Given the description of an element on the screen output the (x, y) to click on. 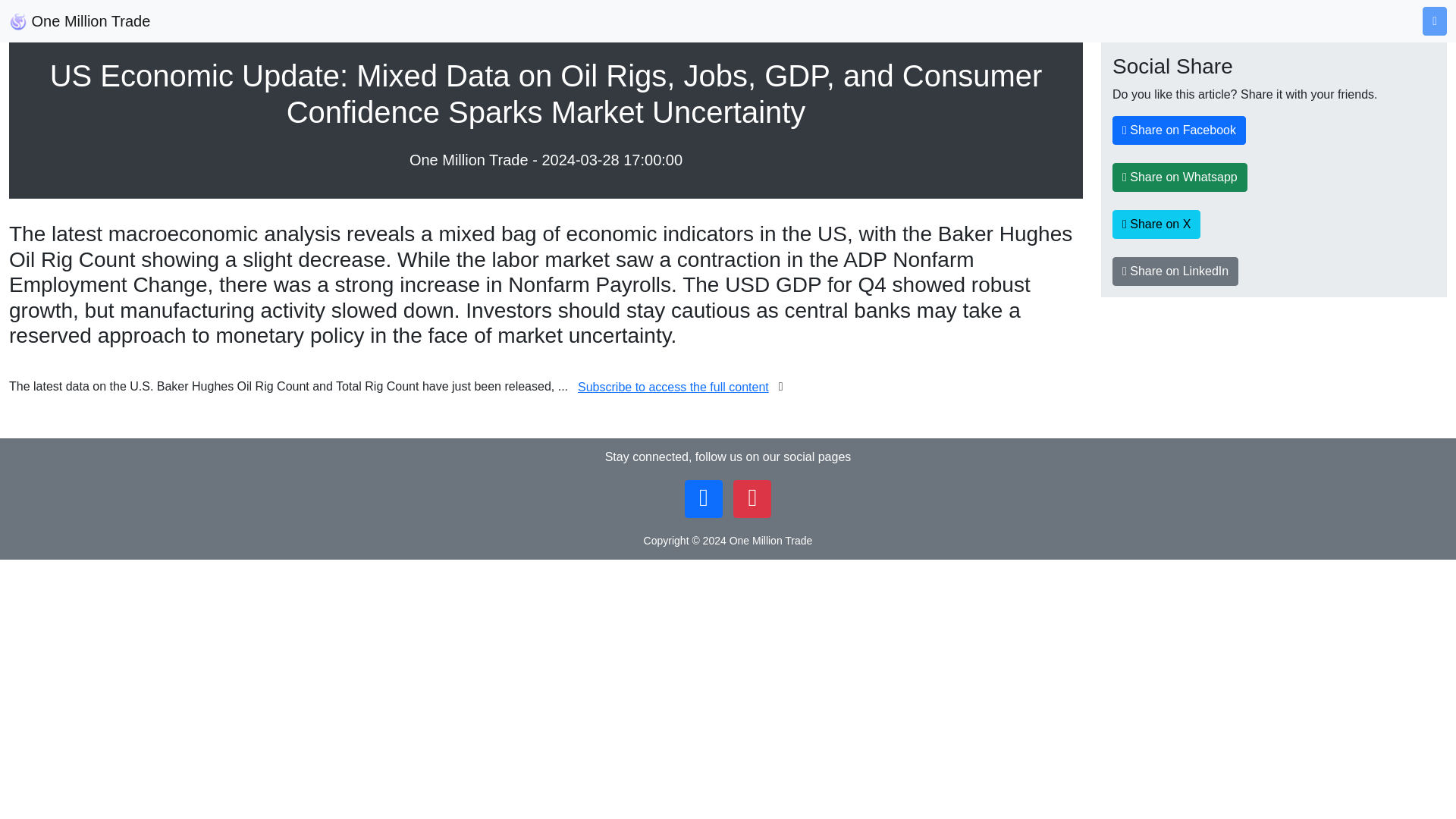
Share on Facebook (1179, 130)
Subscribe to access the full content (672, 387)
Share on X (1155, 224)
One Million Trade (78, 20)
Share on LinkedIn (1175, 271)
Share on Whatsapp (1179, 176)
